Given the description of an element on the screen output the (x, y) to click on. 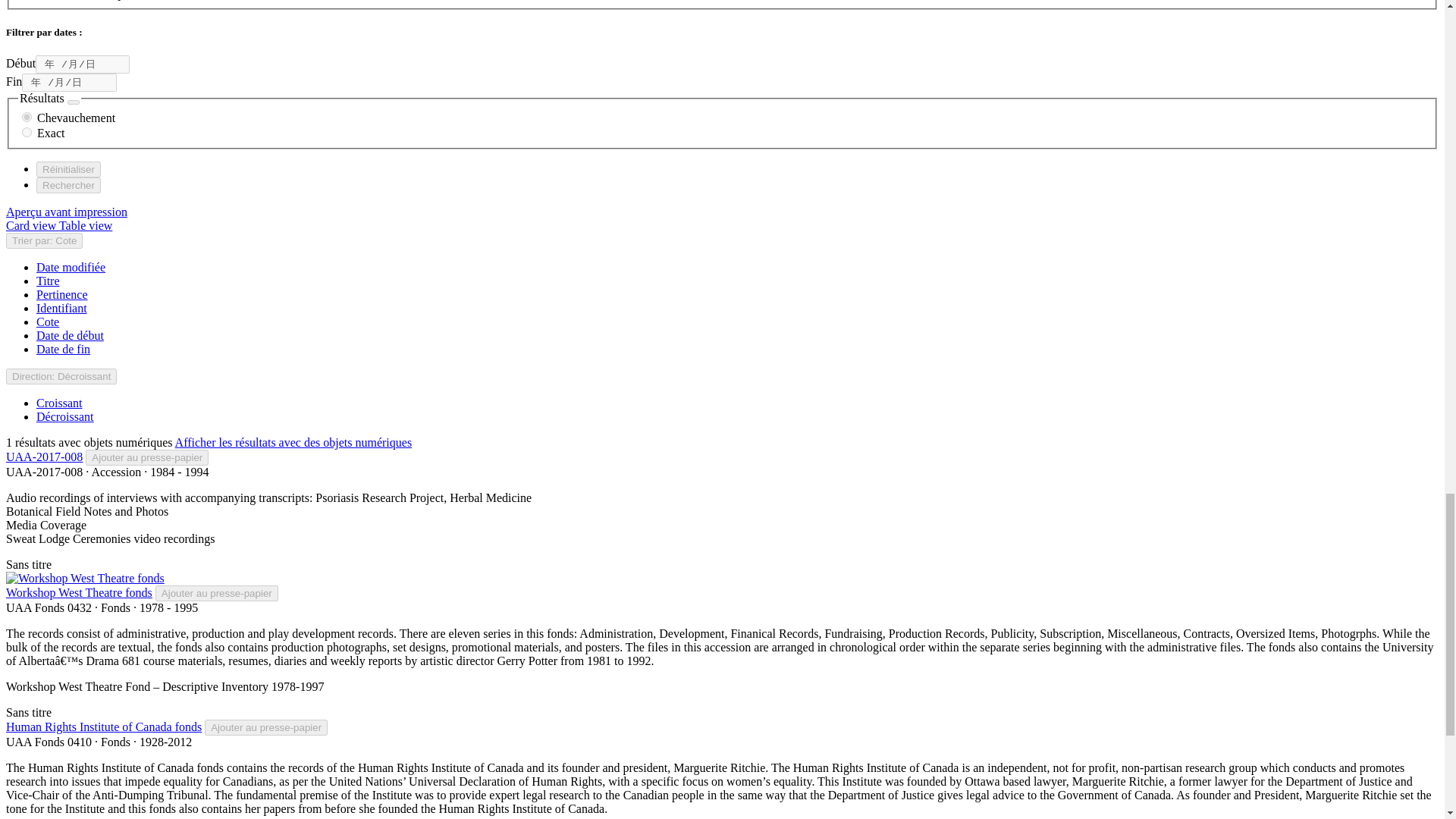
inclusive (26, 117)
exact (26, 132)
Rechercher (68, 185)
